Given the description of an element on the screen output the (x, y) to click on. 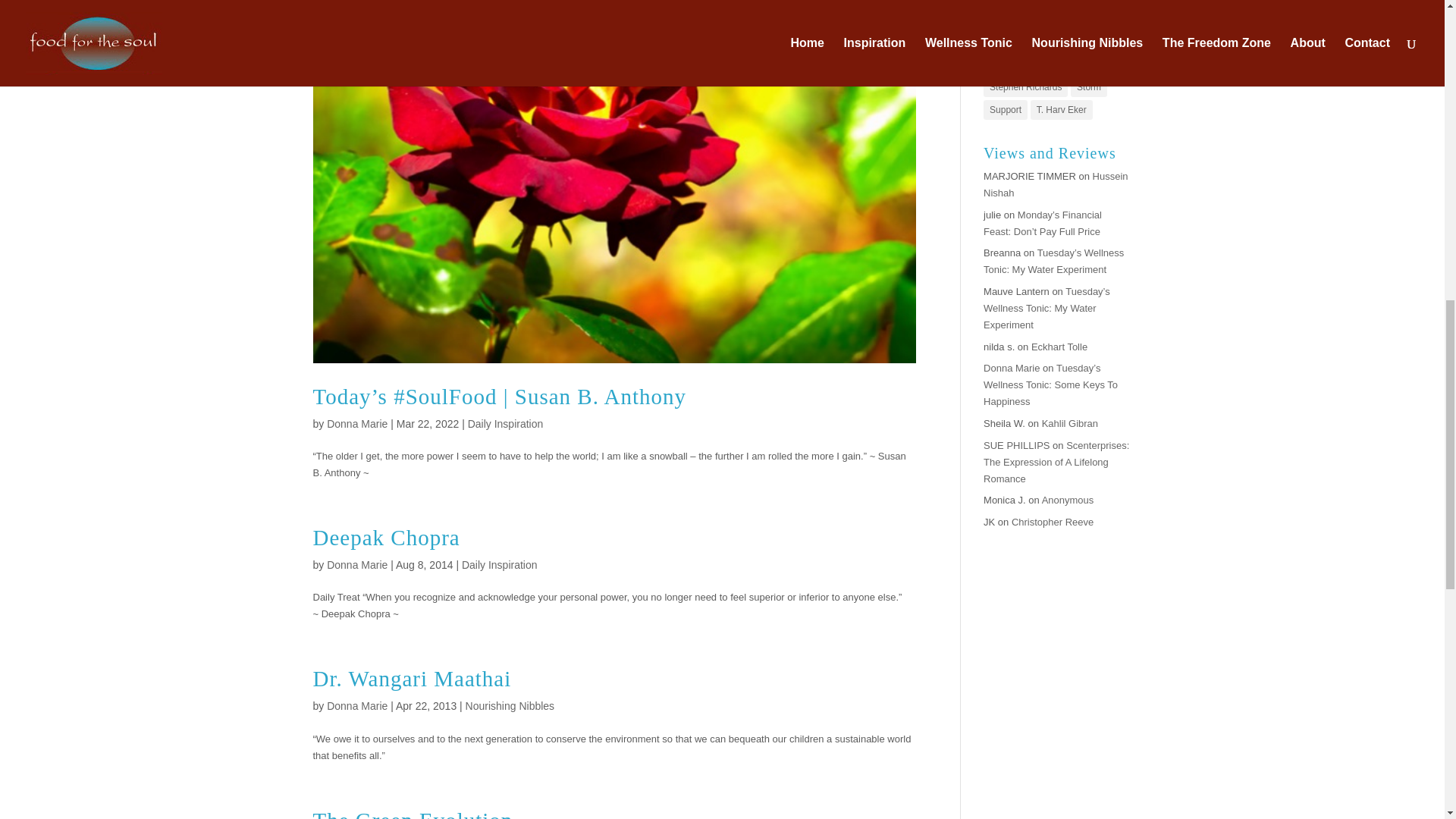
Donna Marie (356, 705)
Daily Inspiration (499, 564)
Donna Marie (356, 423)
Posts by Donna Marie (356, 564)
Dr. Wangari Maathai (412, 678)
Nourishing Nibbles (509, 705)
Deepak Chopra (386, 537)
Posts by Donna Marie (356, 423)
Daily Inspiration (505, 423)
The Green Evolution (412, 813)
Posts by Donna Marie (356, 705)
Donna Marie (356, 564)
